Given the description of an element on the screen output the (x, y) to click on. 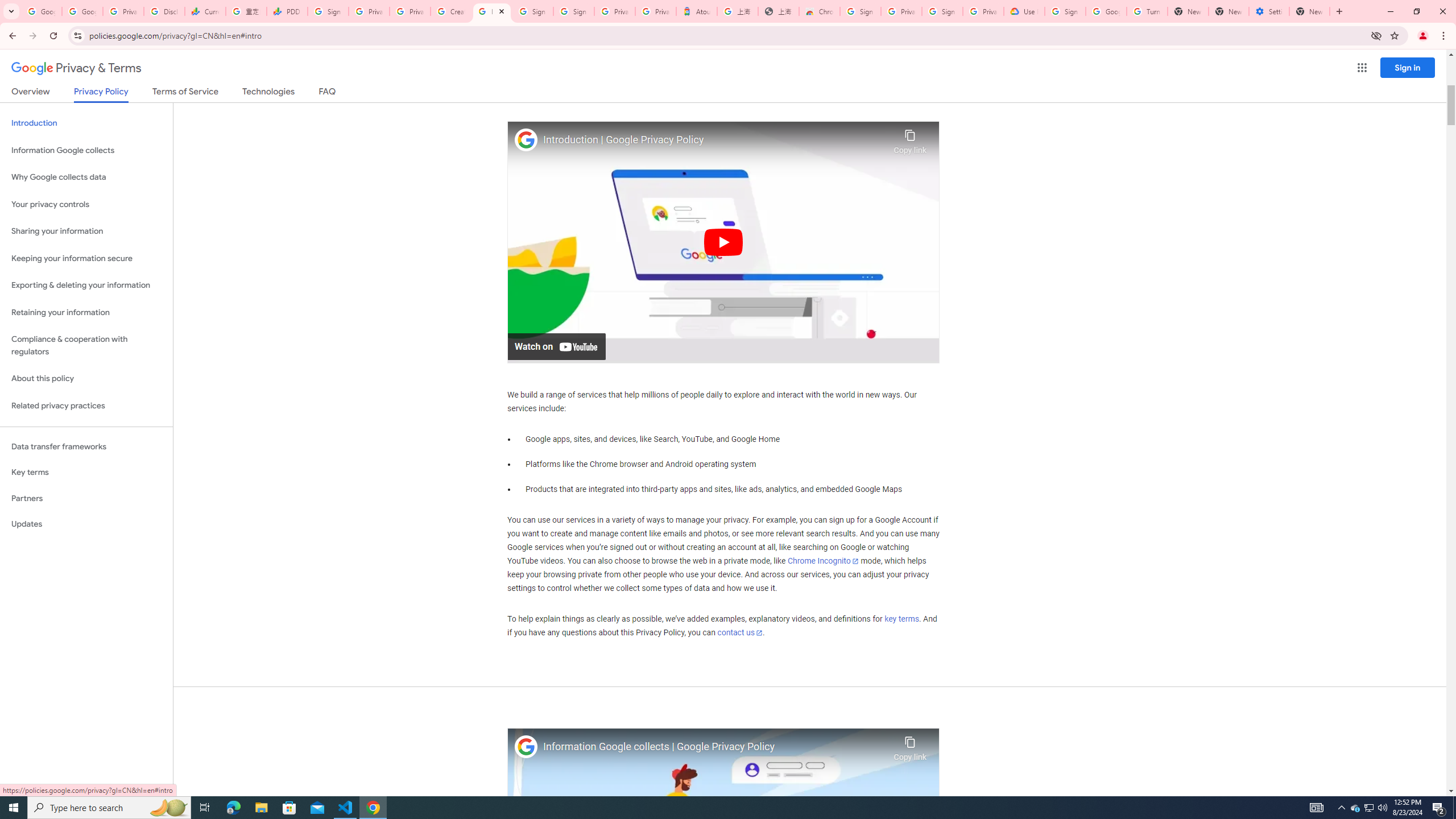
New Tab (1309, 11)
key terms (900, 619)
Introduction | Google Privacy Policy (715, 139)
contact us (739, 633)
Watch on YouTube (556, 346)
Information Google collects | Google Privacy Policy (715, 747)
Settings - System (1268, 11)
Privacy Checkup (409, 11)
